Given the description of an element on the screen output the (x, y) to click on. 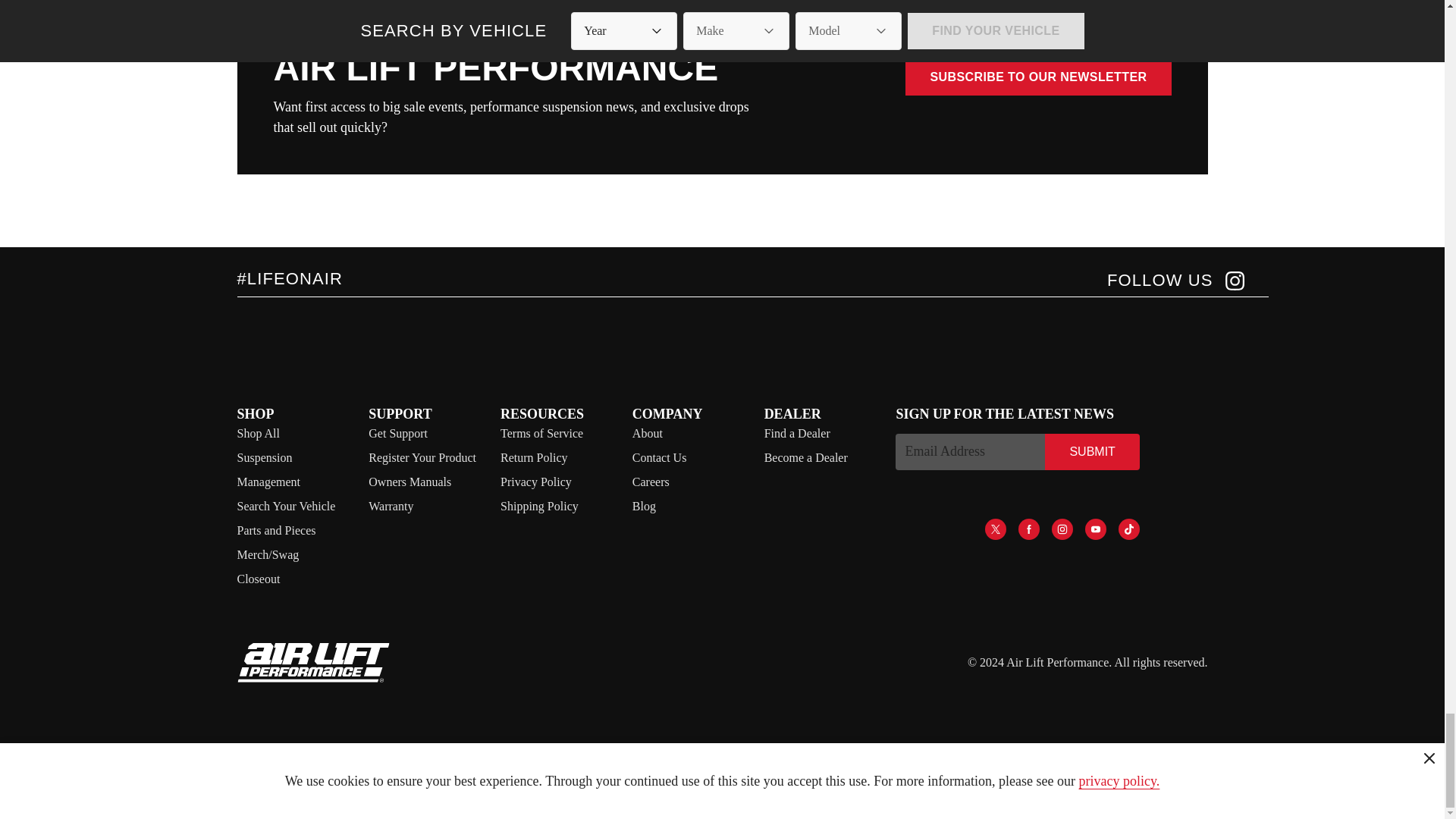
Warranty (390, 505)
SUBSCRIBE TO OUR NEWSLETTER (1037, 76)
Suspension (263, 457)
Closeout (257, 578)
Return Policy (533, 457)
Owners Manuals (409, 481)
FOLLOW US (1174, 280)
Search Your Vehicle (284, 505)
Get Support (398, 432)
Terms of Service (541, 432)
Register Your Product (422, 457)
Shop All (257, 432)
Privacy Policy (536, 481)
Parts and Pieces (275, 530)
Shipping Policy (539, 505)
